Given the description of an element on the screen output the (x, y) to click on. 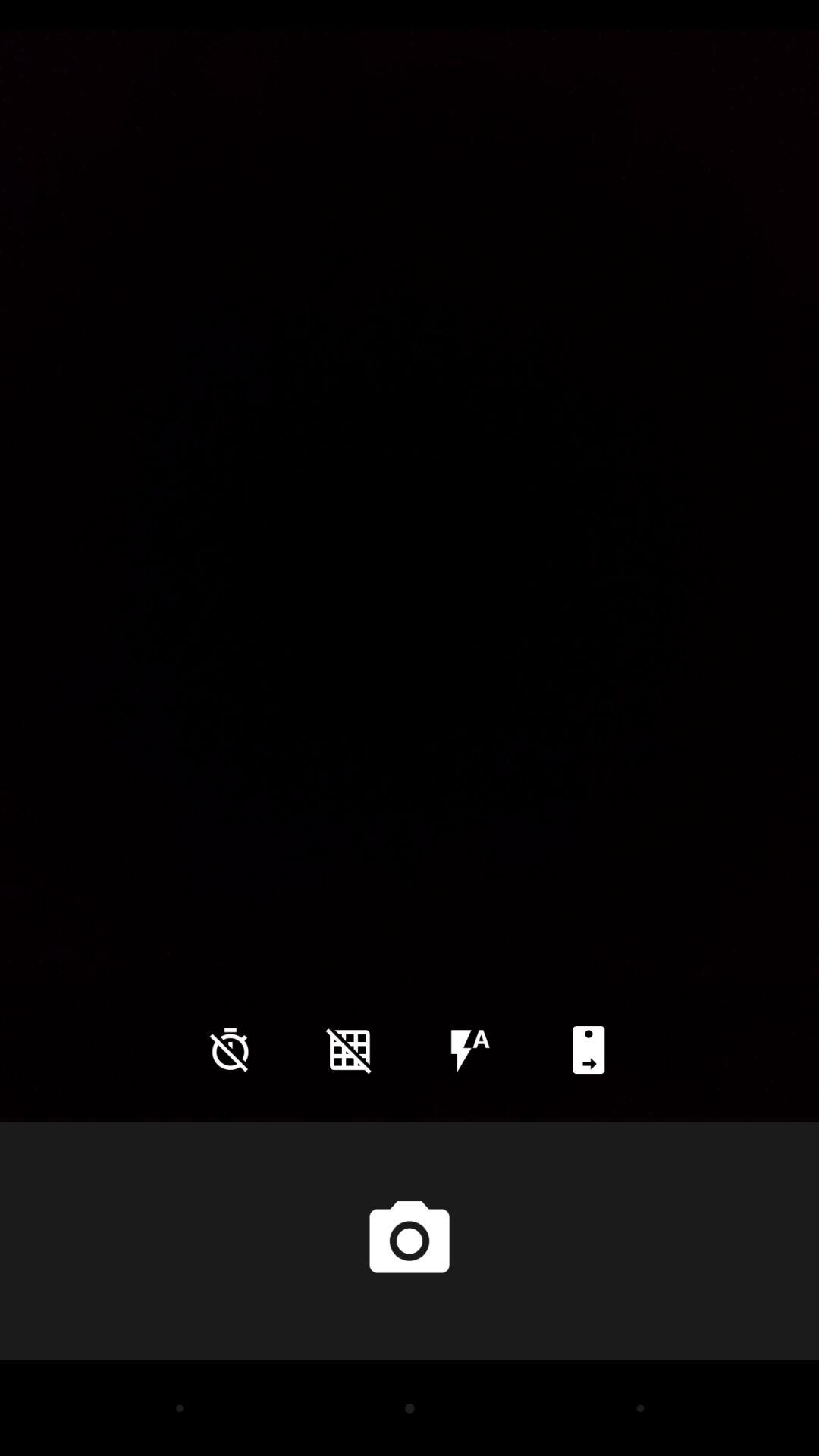
open the item at the bottom right corner (588, 1049)
